Given the description of an element on the screen output the (x, y) to click on. 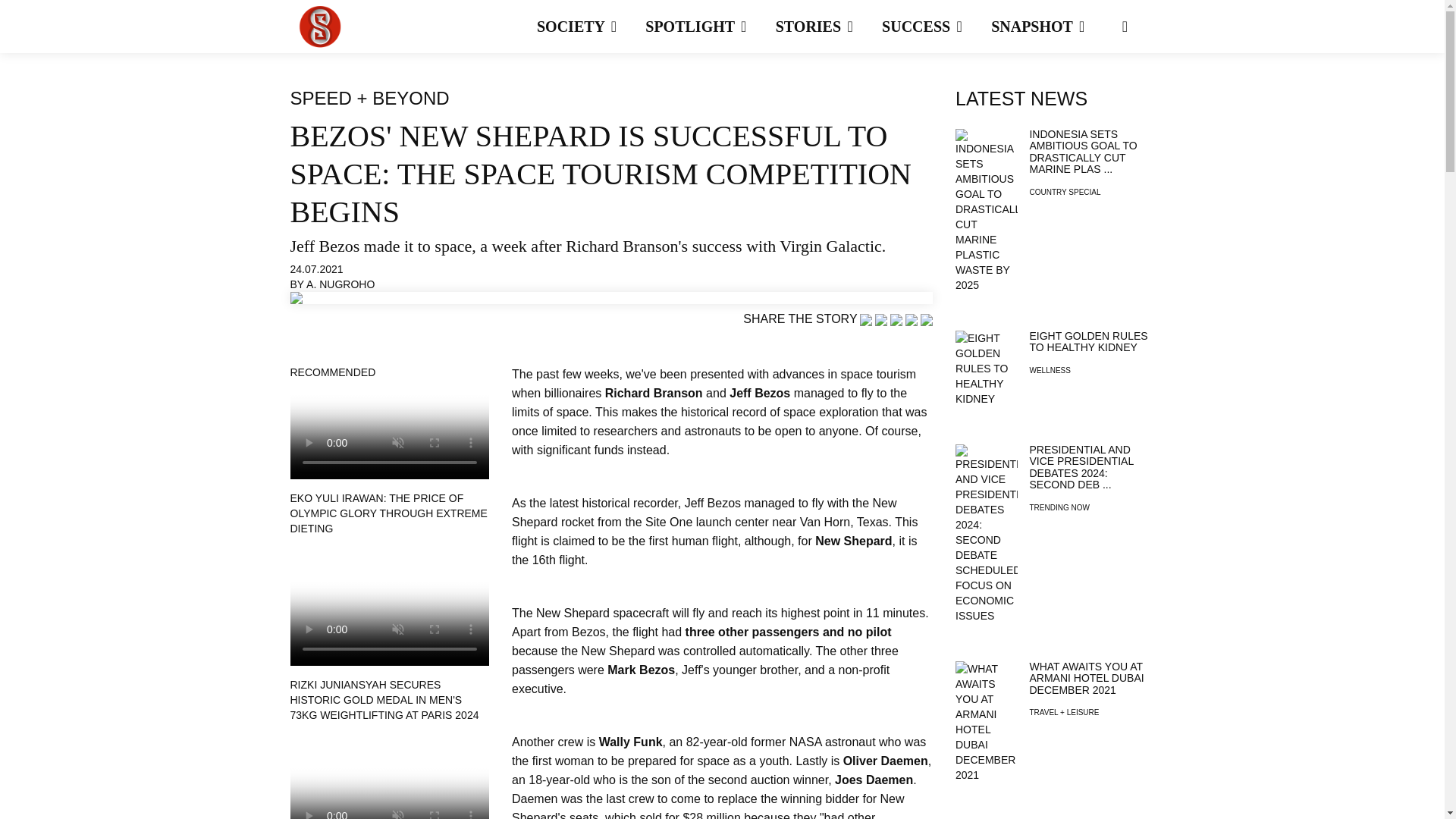
SUCCESS (935, 26)
SOCIETY (590, 26)
SNAPSHOT (1050, 26)
SPOTLIGHT (709, 26)
STORIES (827, 26)
